Given the description of an element on the screen output the (x, y) to click on. 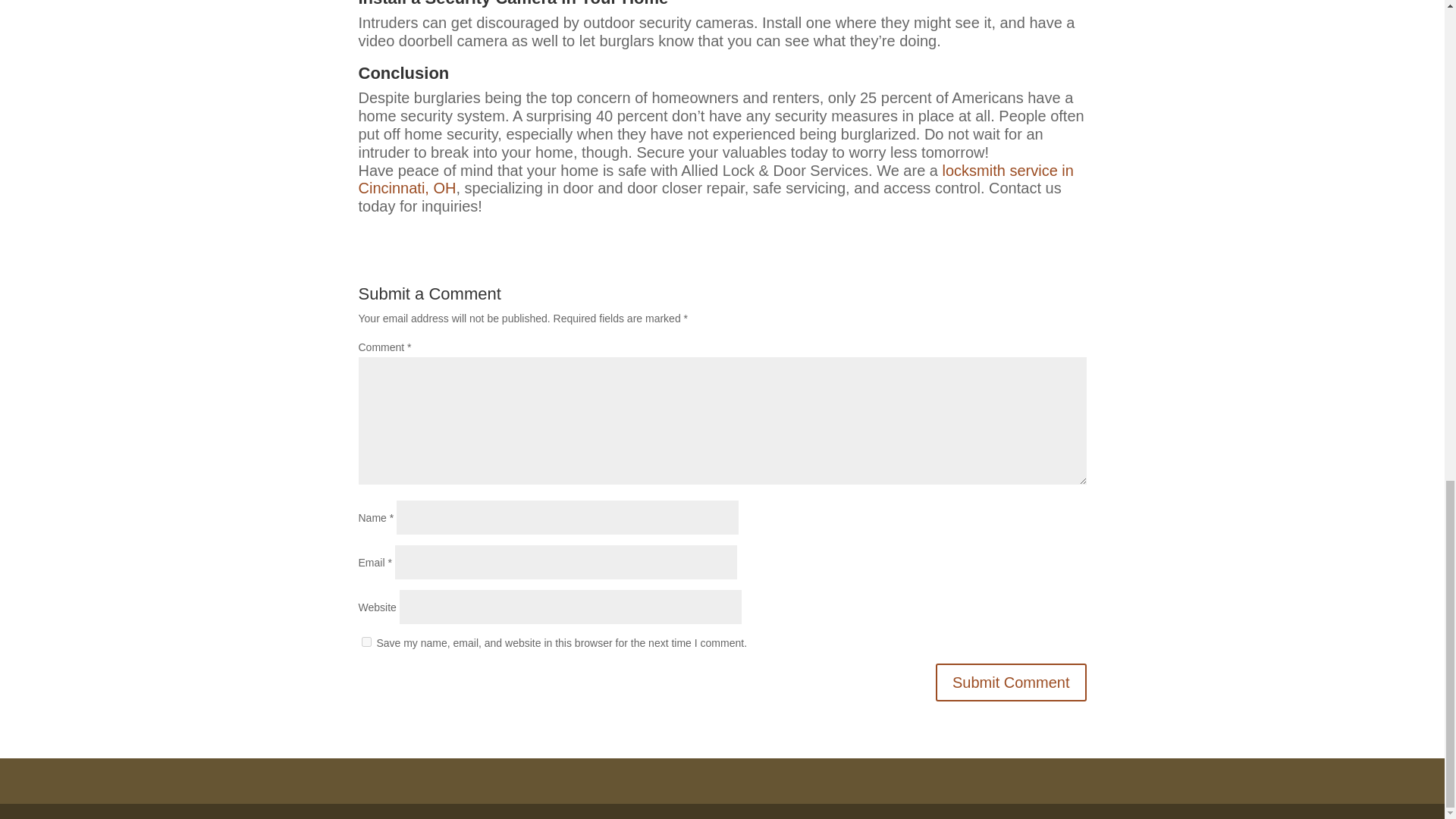
yes (366, 642)
Submit Comment (1011, 682)
locksmith service in Cincinnati, OH (715, 179)
Submit Comment (1011, 682)
